Given the description of an element on the screen output the (x, y) to click on. 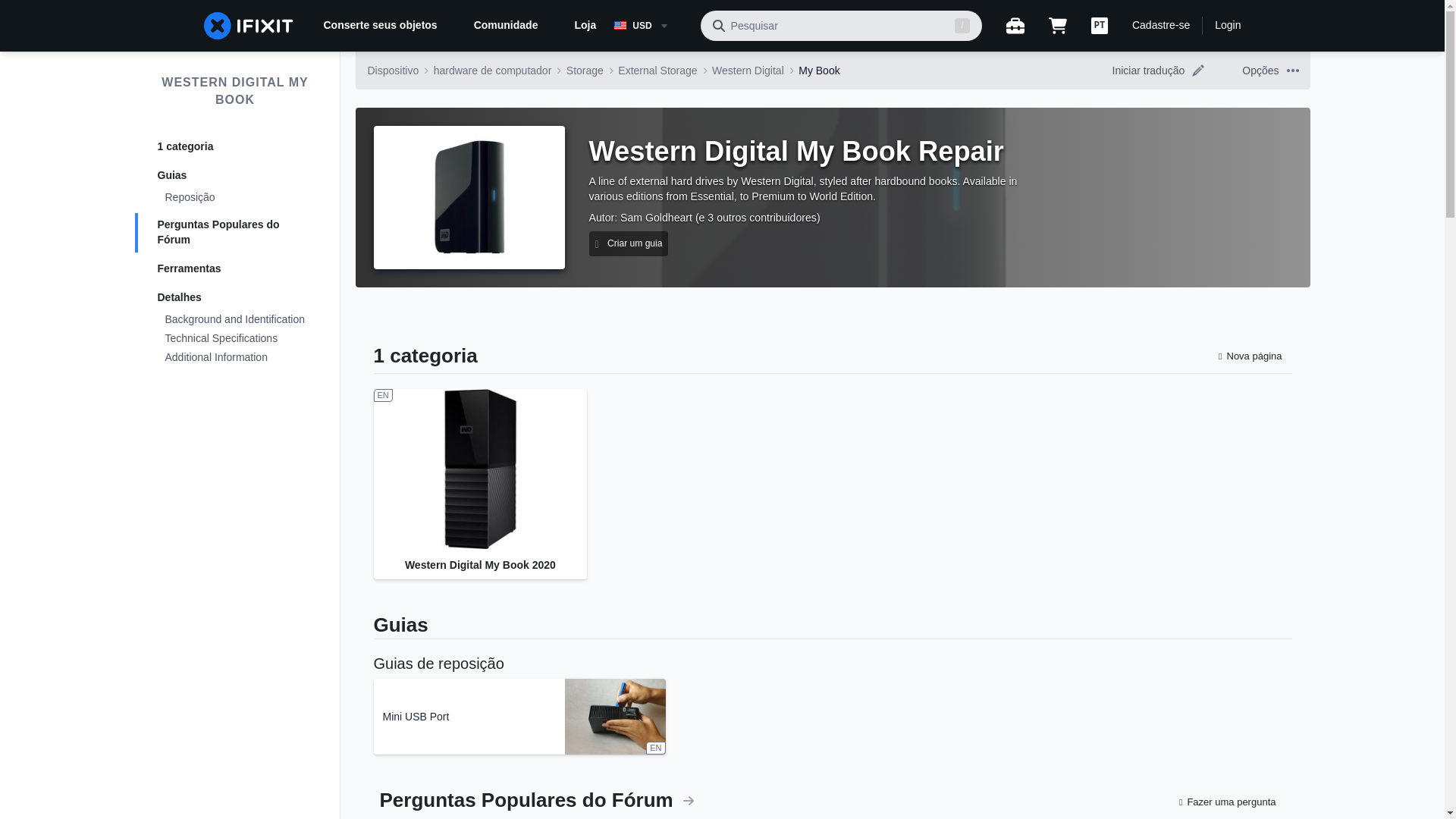
hardware de computador (492, 70)
Cadastre-se (1160, 25)
Detalhes (235, 297)
Sam Goldheart (656, 217)
1 categoria (235, 146)
Dispositivo (392, 70)
Editar (1198, 70)
My Book (818, 70)
Guias (235, 175)
Western Digital (747, 70)
Background and Identification (235, 320)
Storage (585, 70)
WESTERN DIGITAL MY BOOK (234, 91)
Ferramentas (235, 269)
Technical Specifications (235, 339)
